Given the description of an element on the screen output the (x, y) to click on. 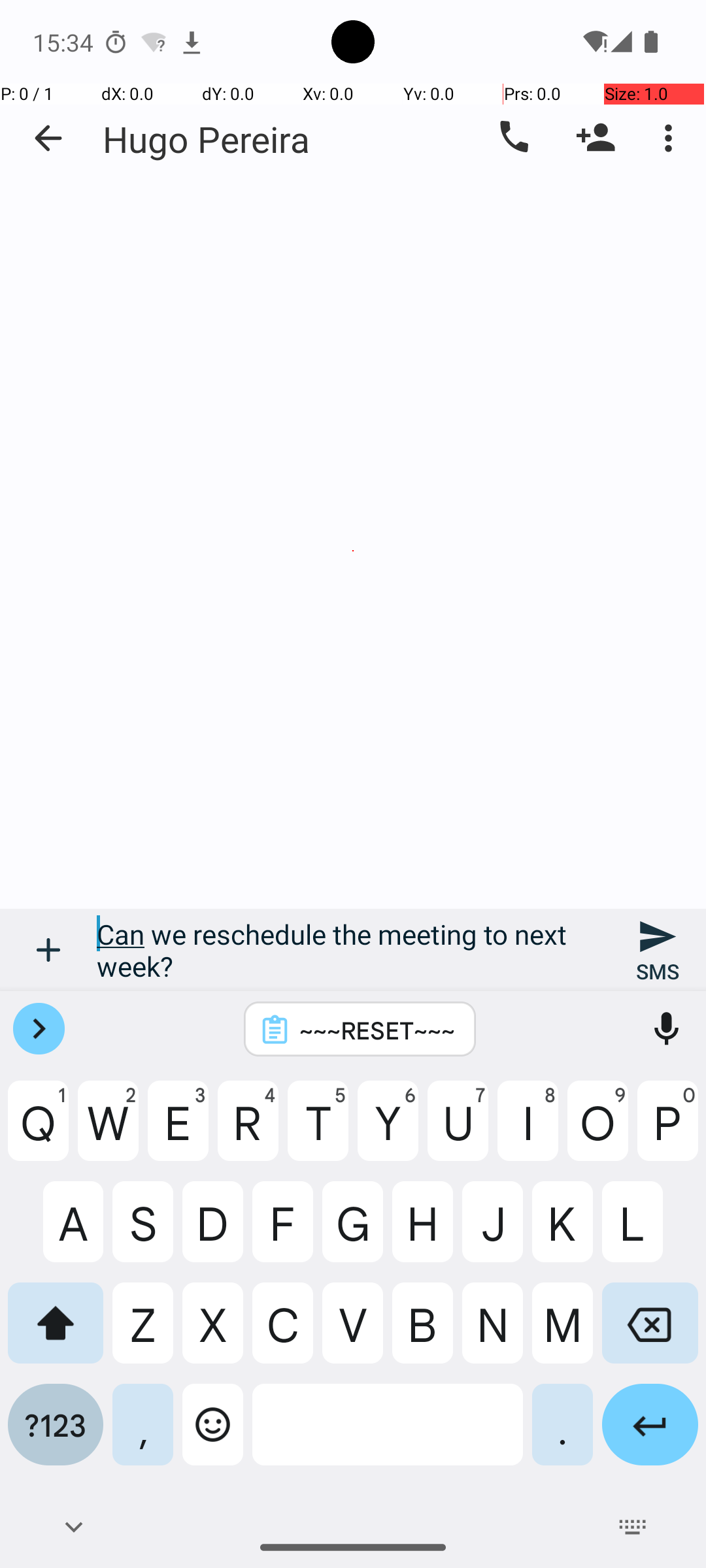
Can we reschedule the meeting to next week? Element type: android.widget.EditText (352, 949)
